Given the description of an element on the screen output the (x, y) to click on. 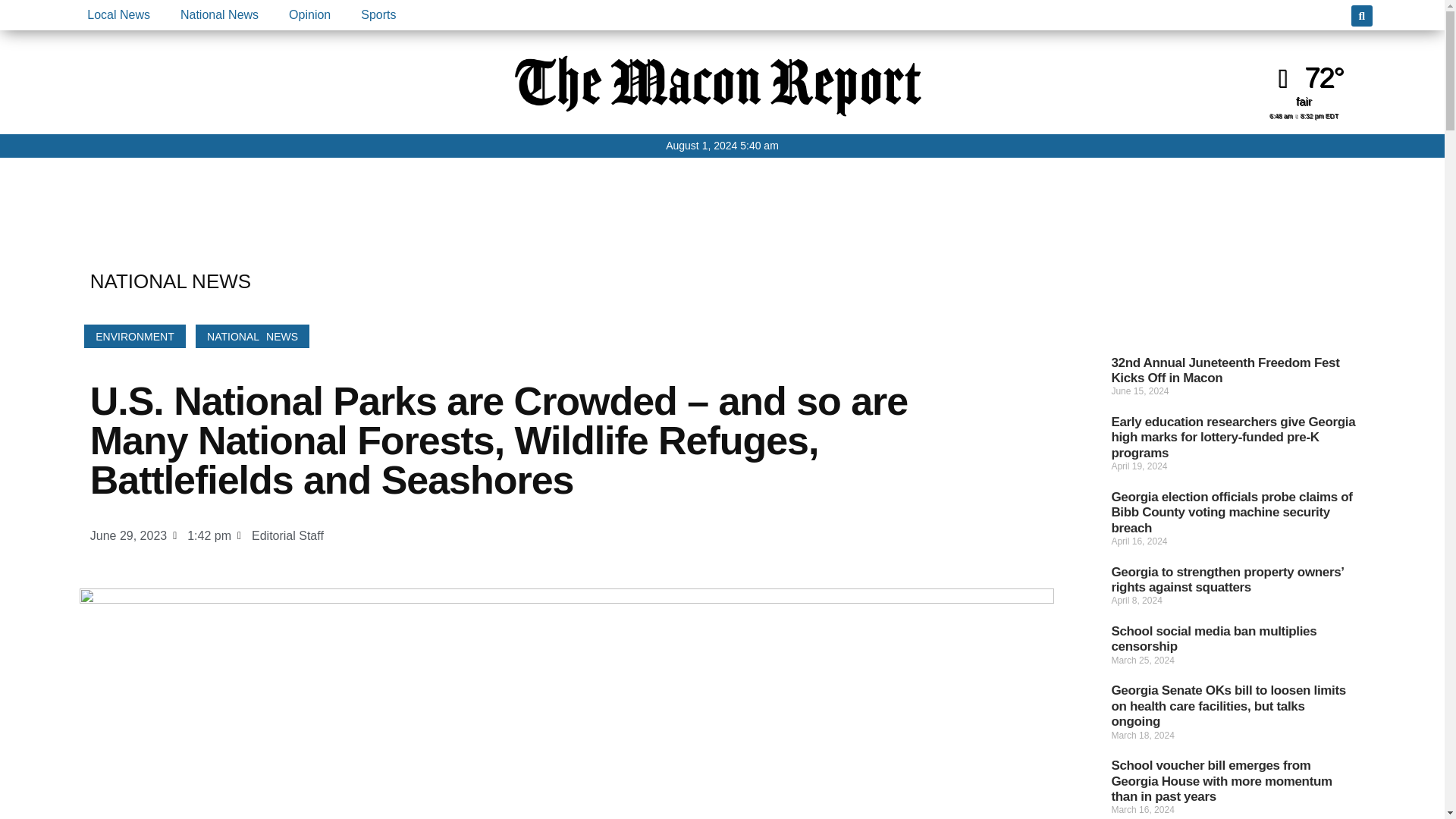
Opinion (309, 14)
National News (219, 14)
NATIONAL NEWS (251, 336)
Local News (118, 14)
Sports (378, 14)
ENVIRONMENT (134, 336)
